Given the description of an element on the screen output the (x, y) to click on. 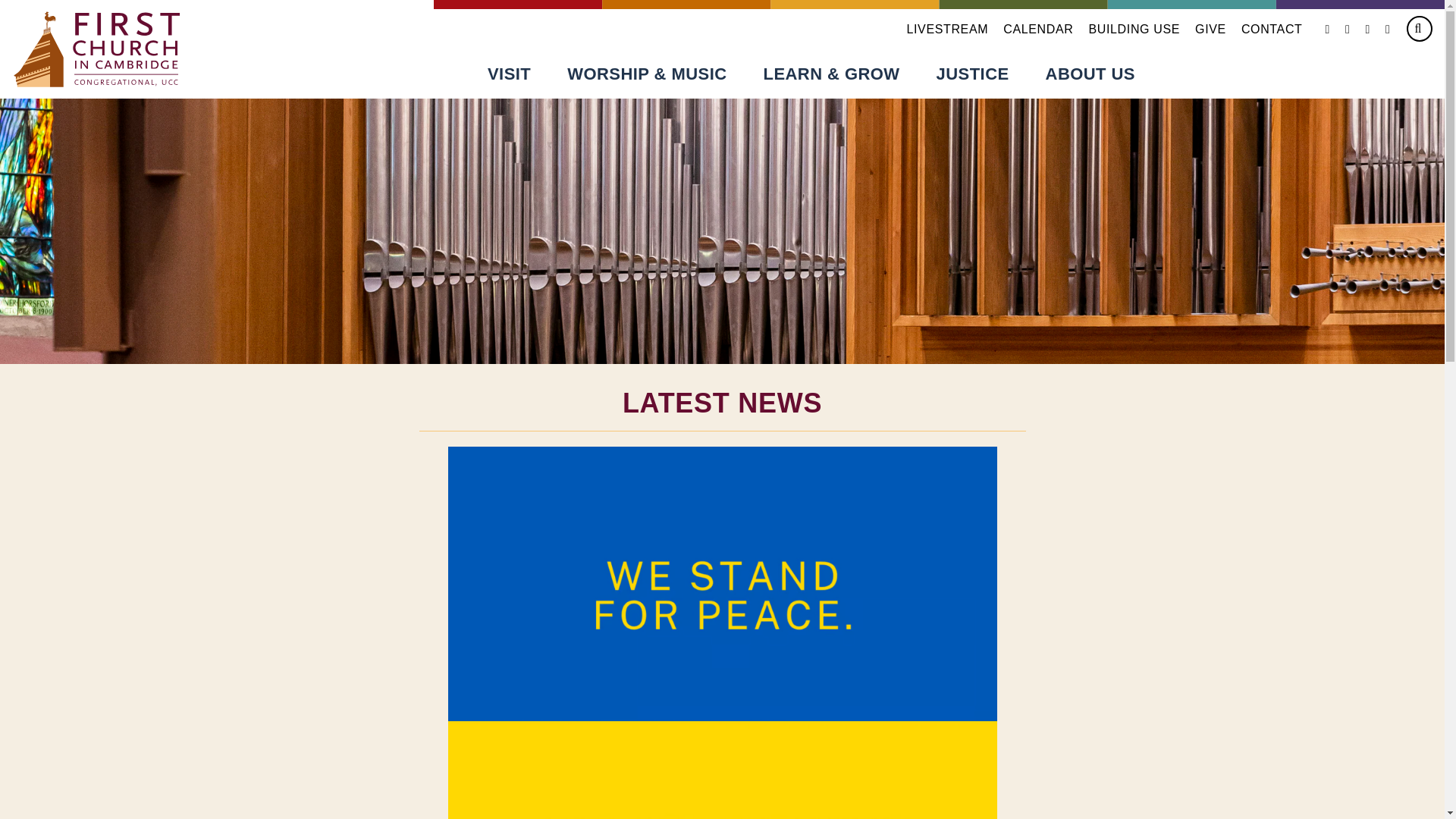
VISIT (508, 72)
LIVESTREAM (946, 29)
GIVE (1210, 29)
First Church Cambridge (97, 48)
CALENDAR (1038, 29)
CONTACT (1272, 29)
JUSTICE (973, 72)
BUILDING USE (1133, 29)
